Given the description of an element on the screen output the (x, y) to click on. 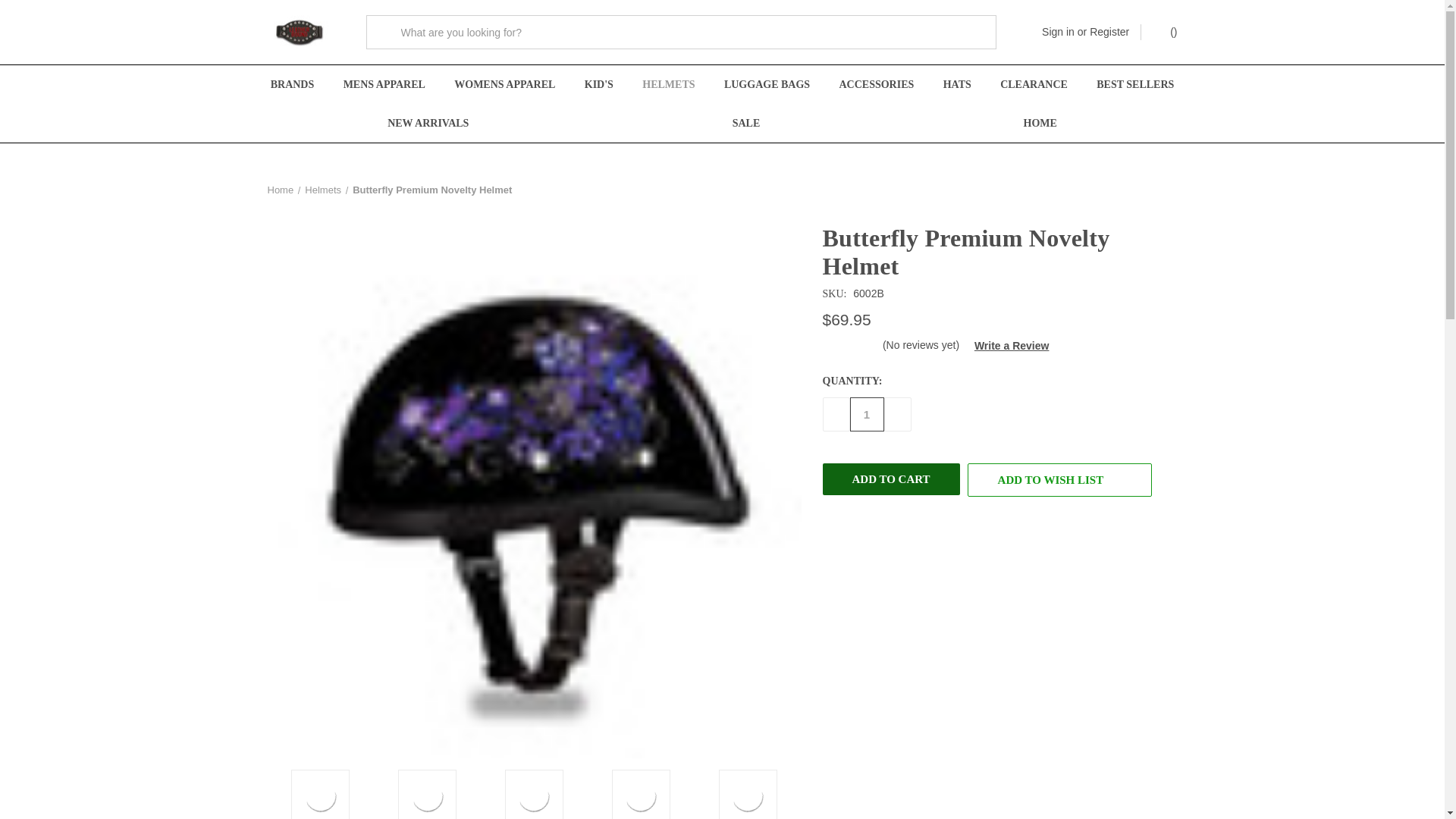
BRANDS (292, 84)
Sign in (1058, 32)
Leather Bound (298, 32)
1 (865, 414)
Daytona Butterfly Novelty Motorcycle Helmet (534, 795)
Premium Novelty Ladies Motorcycle Helmet: Purple Butterfly (320, 795)
Novelty Dayton Helmets Sizing (748, 795)
Ladies Butterfly Novelty Motorcycle Helmet (427, 795)
Register (1109, 32)
